Given the description of an element on the screen output the (x, y) to click on. 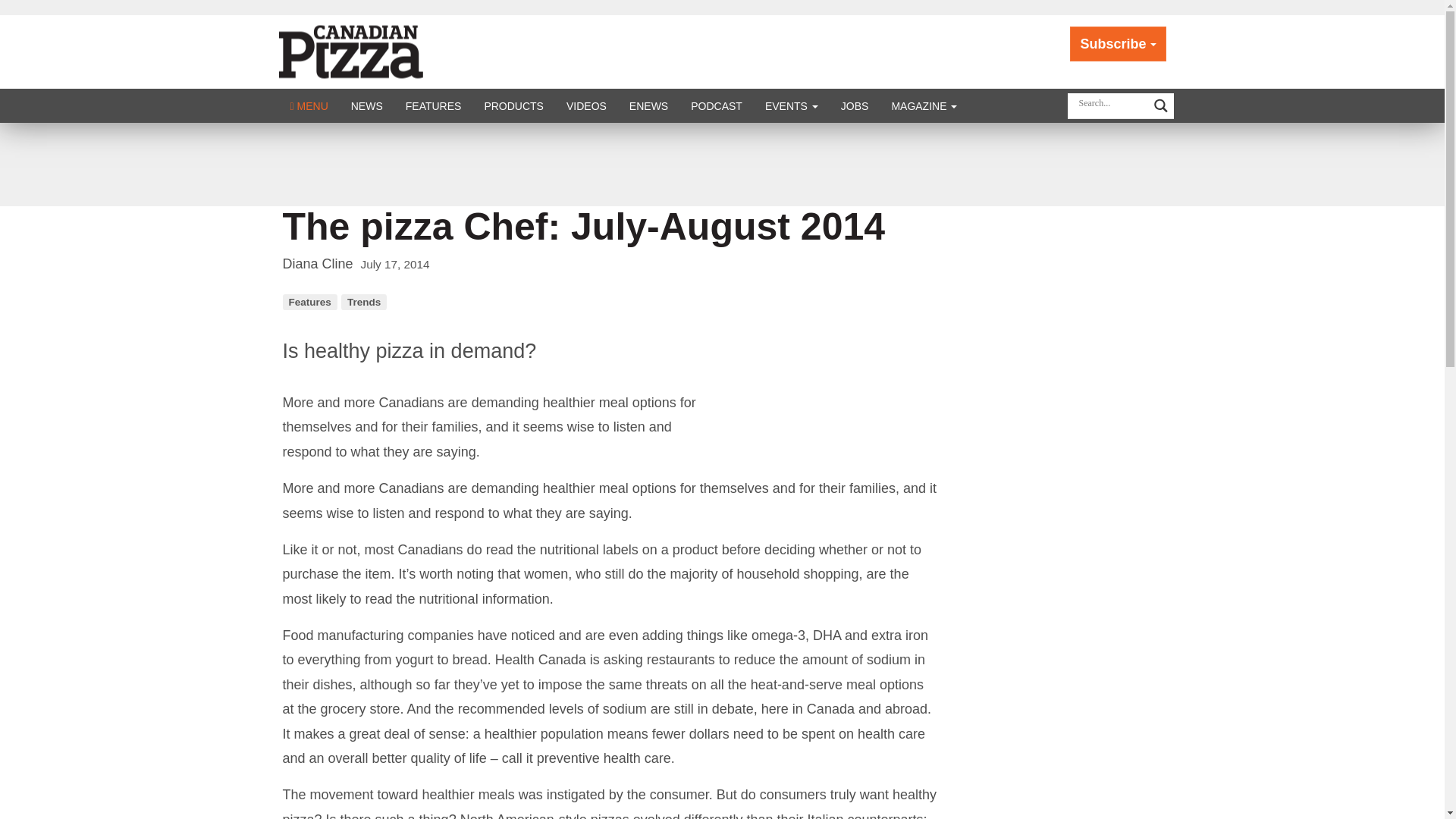
Canadian Pizza Magazine (368, 50)
PODCAST (716, 105)
FEATURES (433, 105)
PRODUCTS (512, 105)
MENU (309, 105)
JOBS (854, 105)
Click to show site navigation (309, 105)
NEWS (366, 105)
3rd party ad content (721, 164)
MAGAZINE (923, 105)
